Given the description of an element on the screen output the (x, y) to click on. 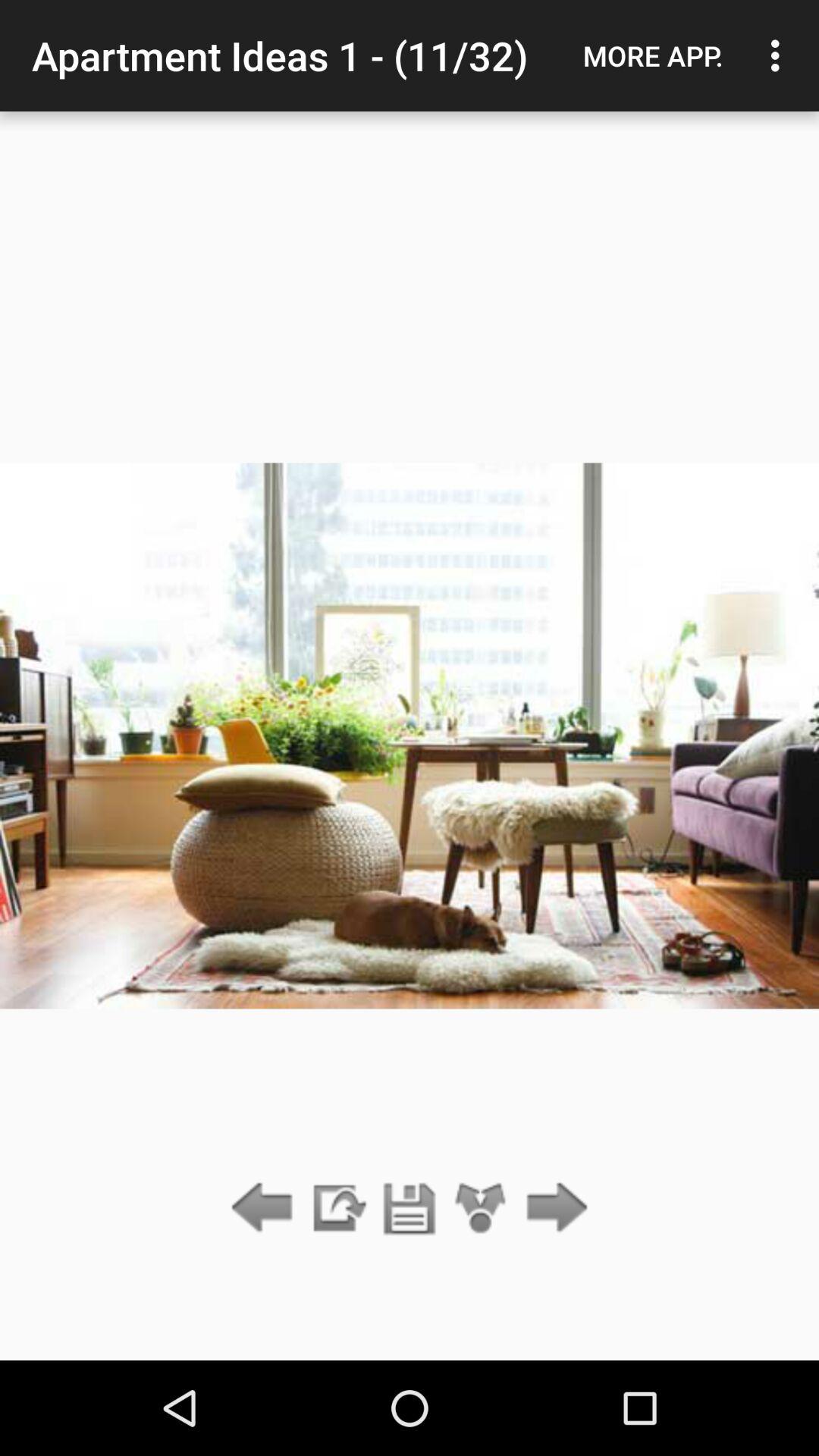
turn off icon below apartment ideas 1 item (409, 1208)
